Given the description of an element on the screen output the (x, y) to click on. 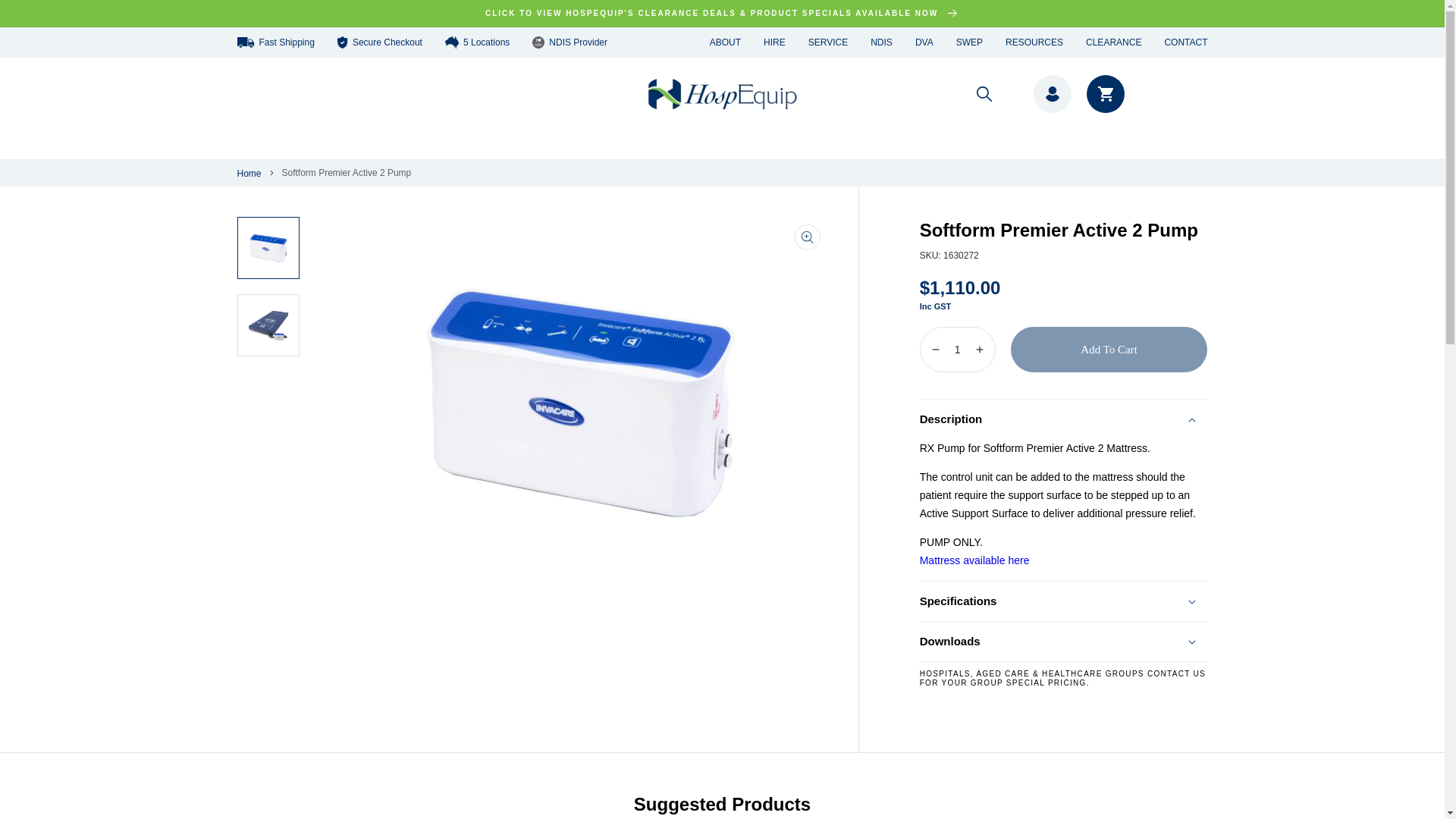
RESOURCES (1034, 41)
CLEARANCE (1113, 41)
SERVICE (827, 41)
HIRE (774, 41)
SWEP (969, 41)
ABOUT (725, 41)
DVA (924, 41)
NDIS (881, 41)
Skip to content (67, 18)
CONTACT (1185, 41)
